Given the description of an element on the screen output the (x, y) to click on. 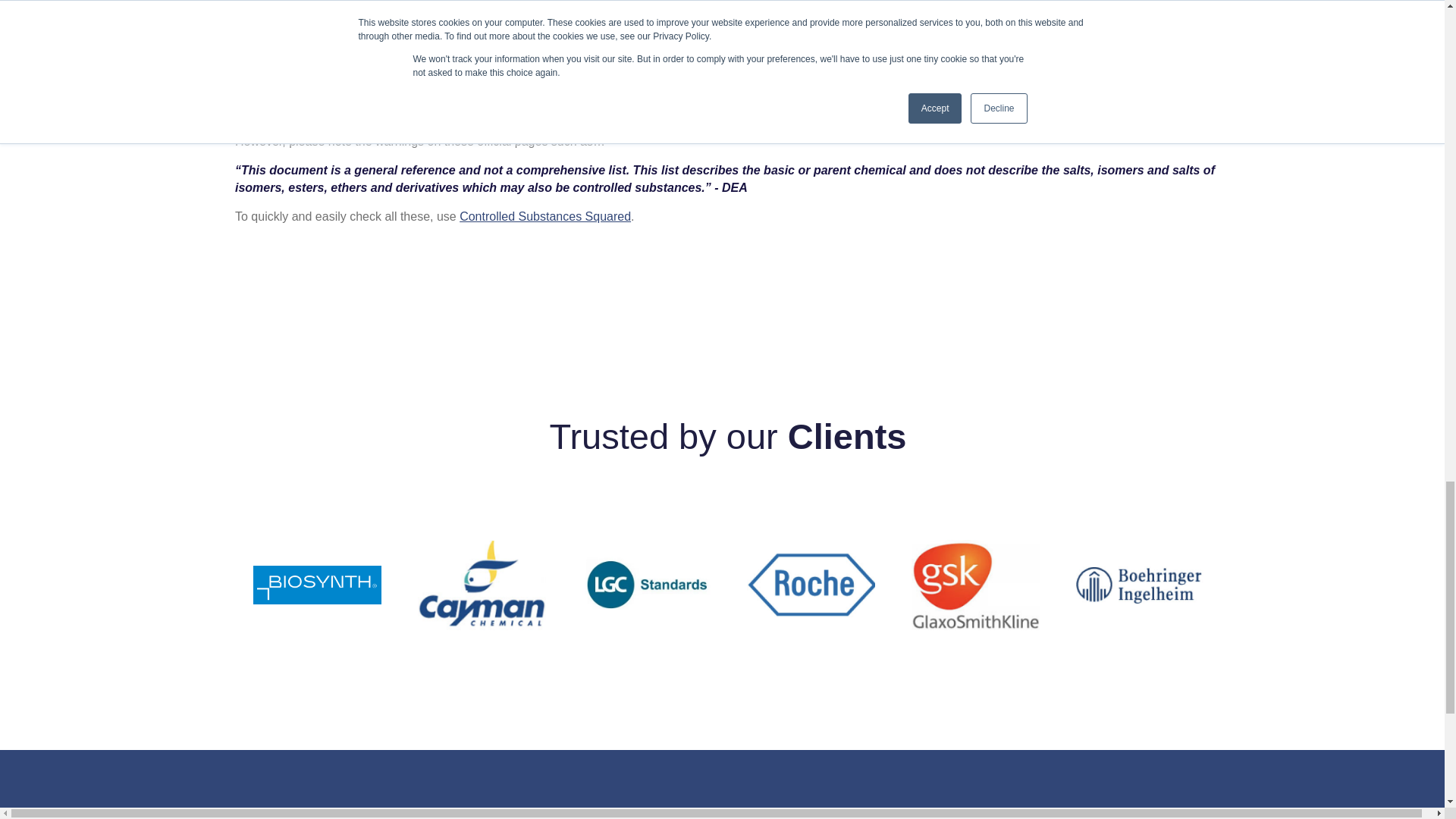
here (1053, 94)
here (1104, 94)
Controlled Substances Squared (545, 215)
Controlled Substances Squared (762, 49)
